Given the description of an element on the screen output the (x, y) to click on. 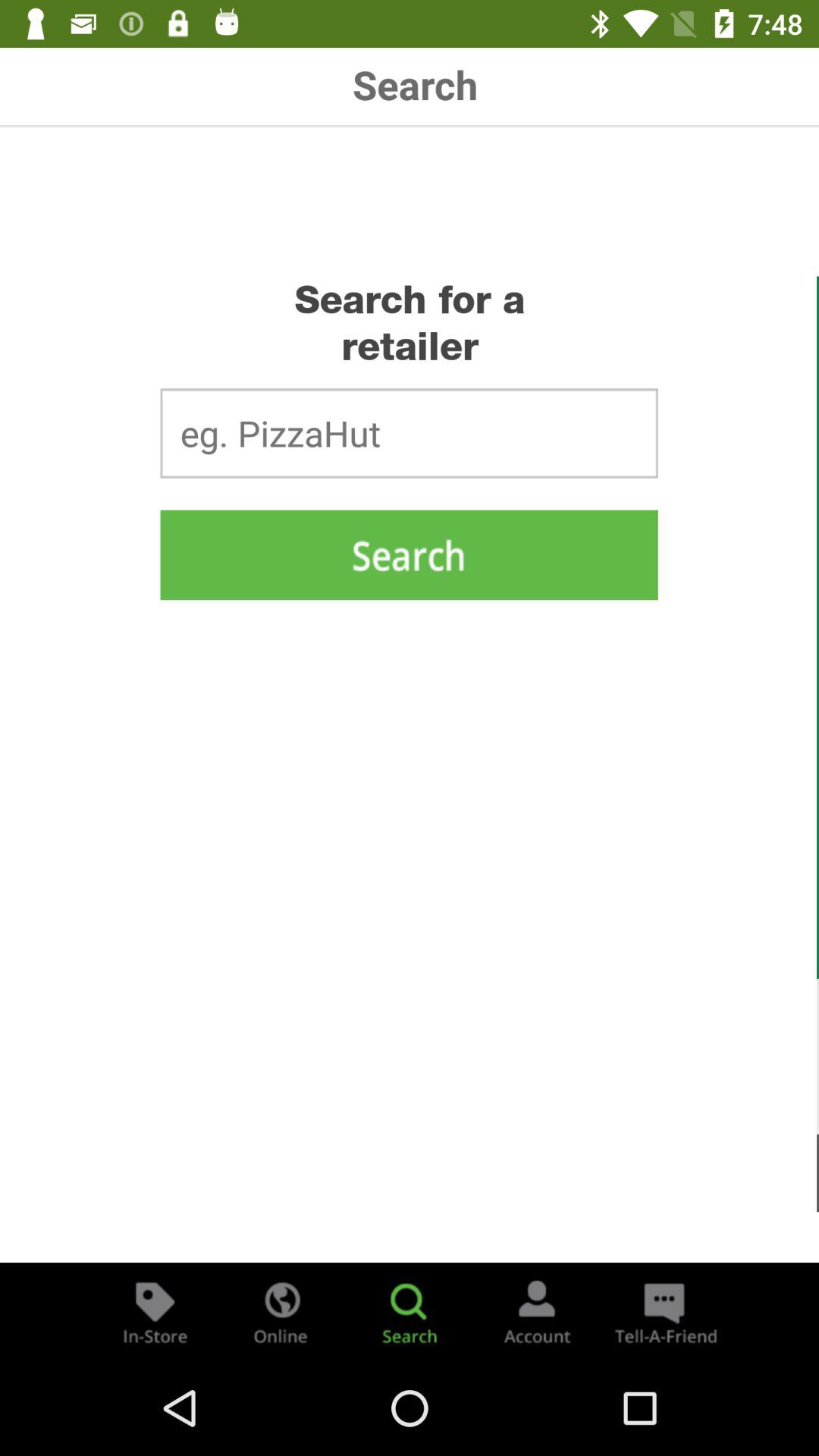
go to account page (536, 1311)
